Given the description of an element on the screen output the (x, y) to click on. 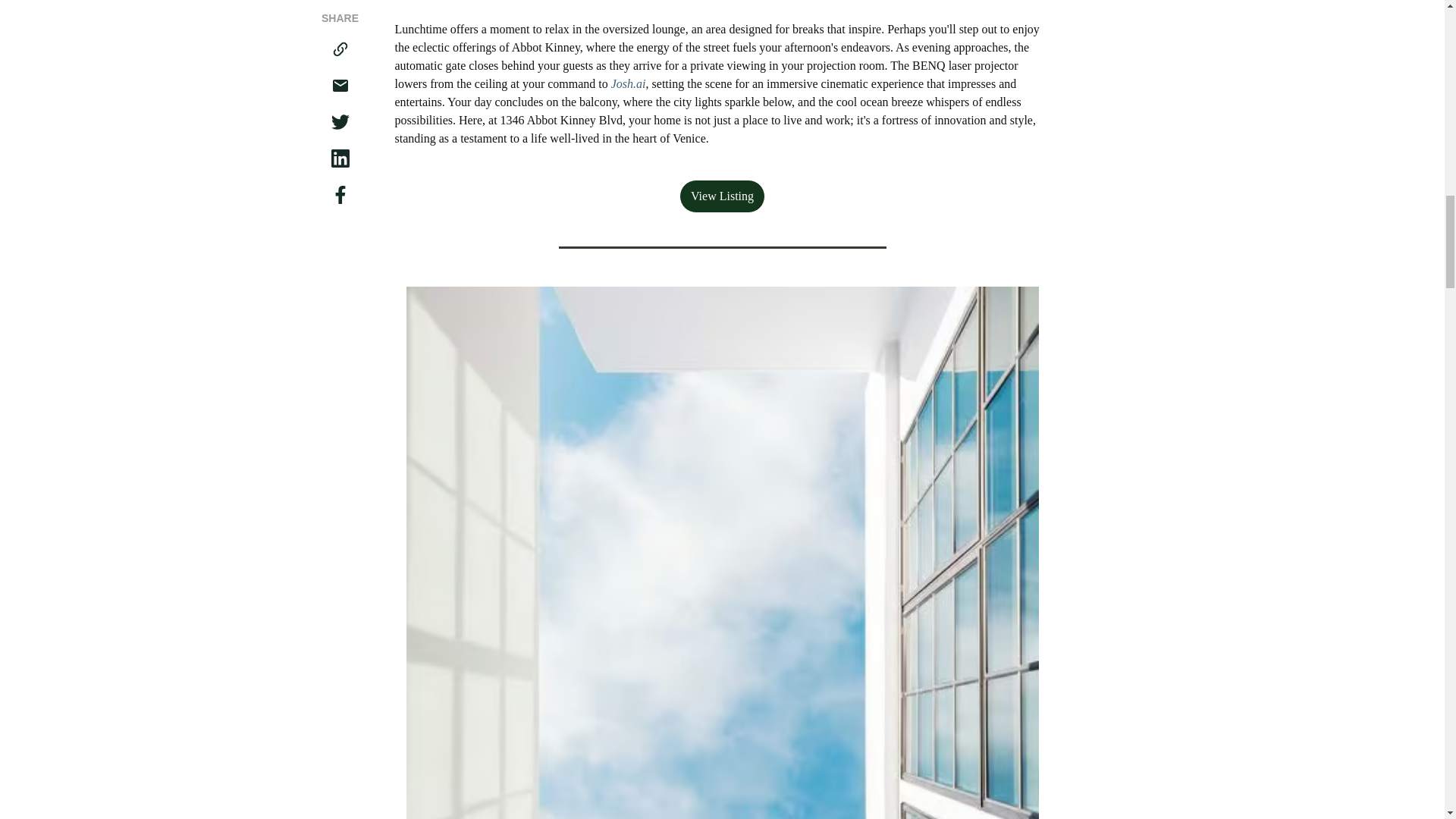
Josh.ai (628, 83)
View Listing (722, 195)
View Listing (722, 195)
